Given the description of an element on the screen output the (x, y) to click on. 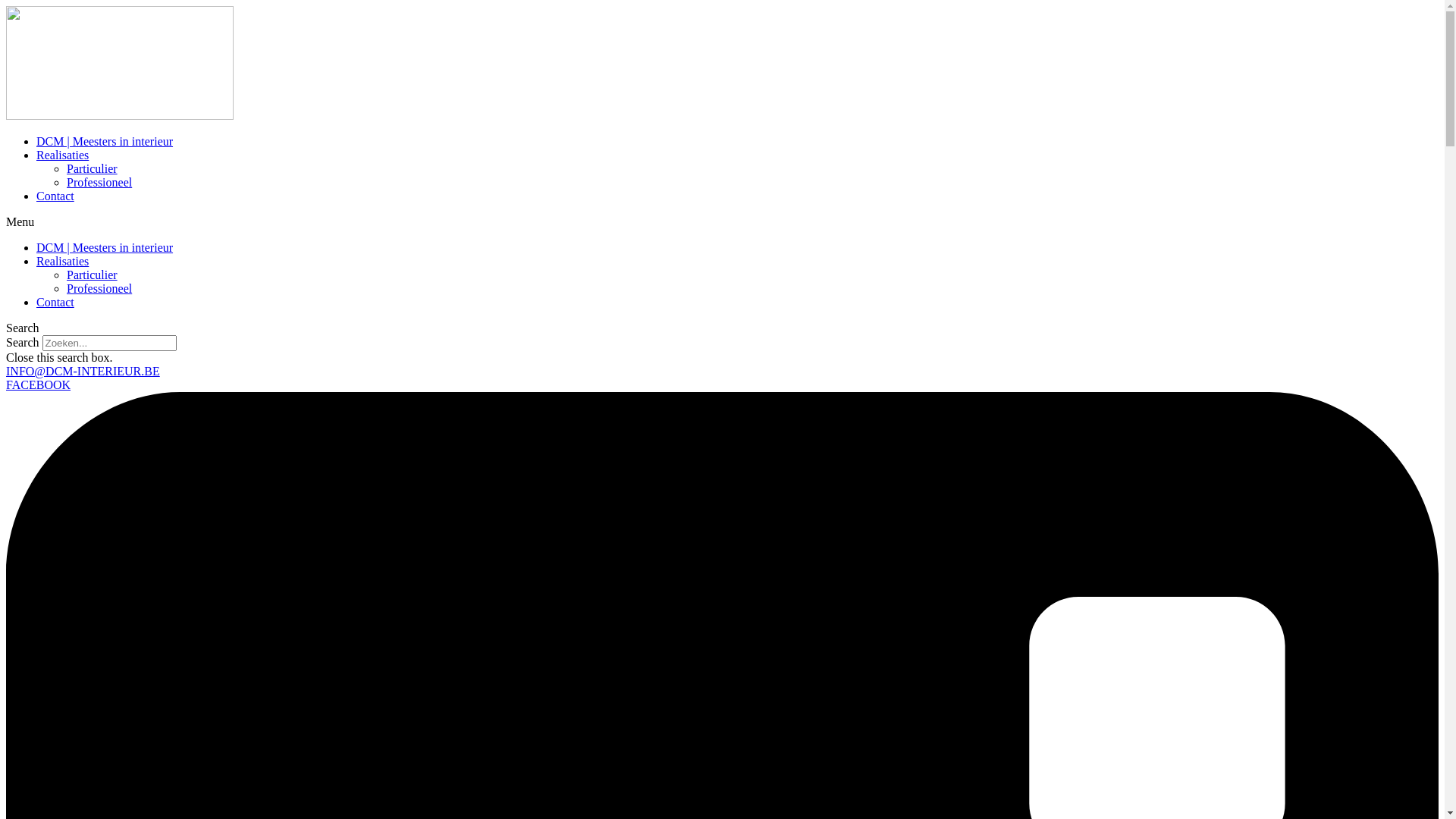
DCM | Meesters in interieur Element type: text (104, 140)
Contact Element type: text (55, 195)
Ga naar de inhoud Element type: text (6, 6)
Particulier Element type: text (91, 168)
Contact Element type: text (55, 301)
Realisaties Element type: text (62, 154)
INFO@DCM-INTERIEUR.BE Element type: text (83, 370)
FACEBOOK Element type: text (38, 384)
DCM | Meesters in interieur Element type: text (104, 247)
Realisaties Element type: text (62, 260)
Professioneel Element type: text (98, 181)
Professioneel Element type: text (98, 288)
Particulier Element type: text (91, 274)
